Given the description of an element on the screen output the (x, y) to click on. 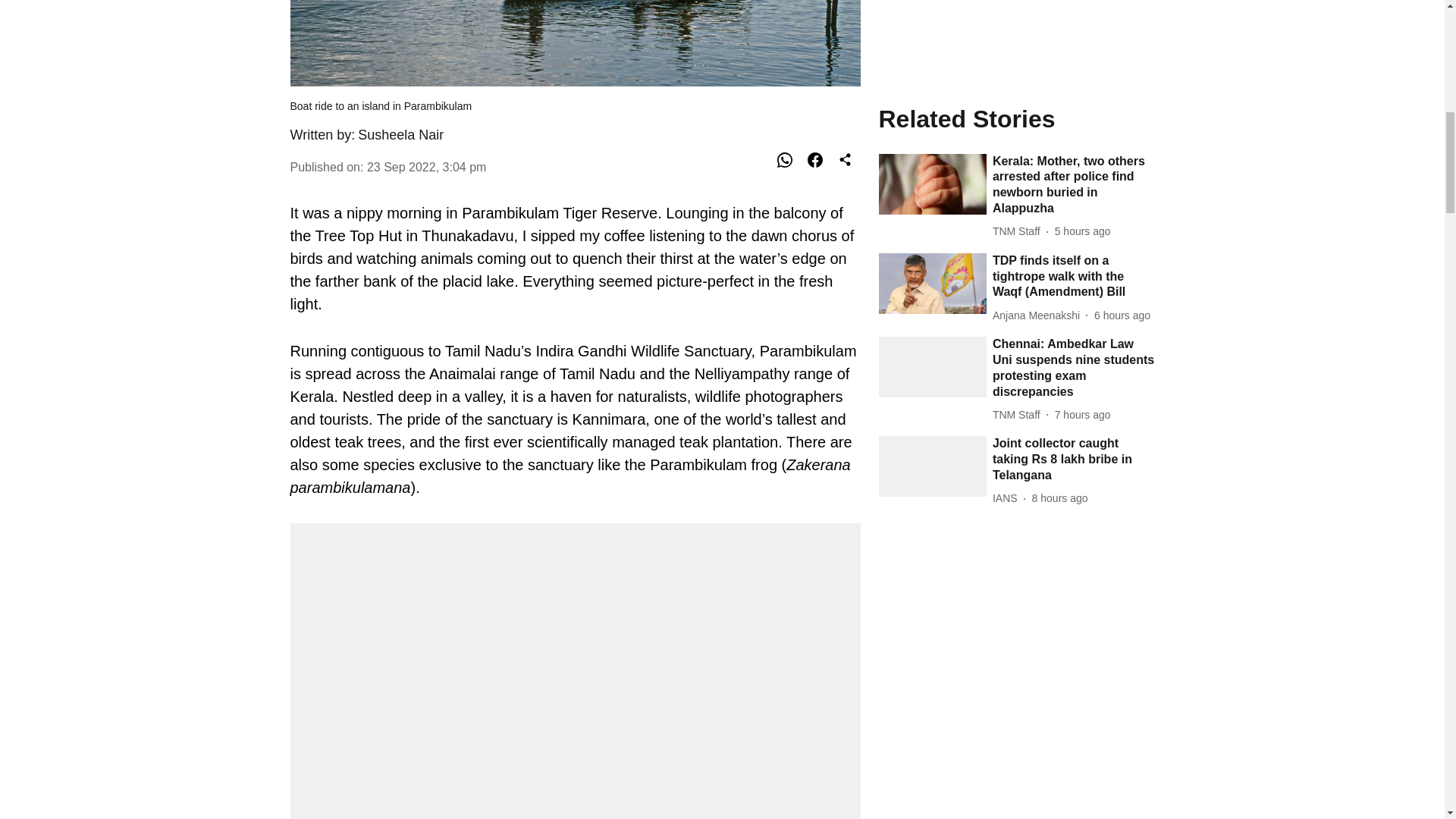
2022-09-23 07:04 (426, 166)
Susheela Nair (401, 134)
2024-08-13 10:57 (1059, 169)
2024-08-13 11:51 (1082, 85)
TNM Staff (1019, 85)
Joint collector caught taking Rs 8 lakh bribe in Telangana (1073, 130)
